Given the description of an element on the screen output the (x, y) to click on. 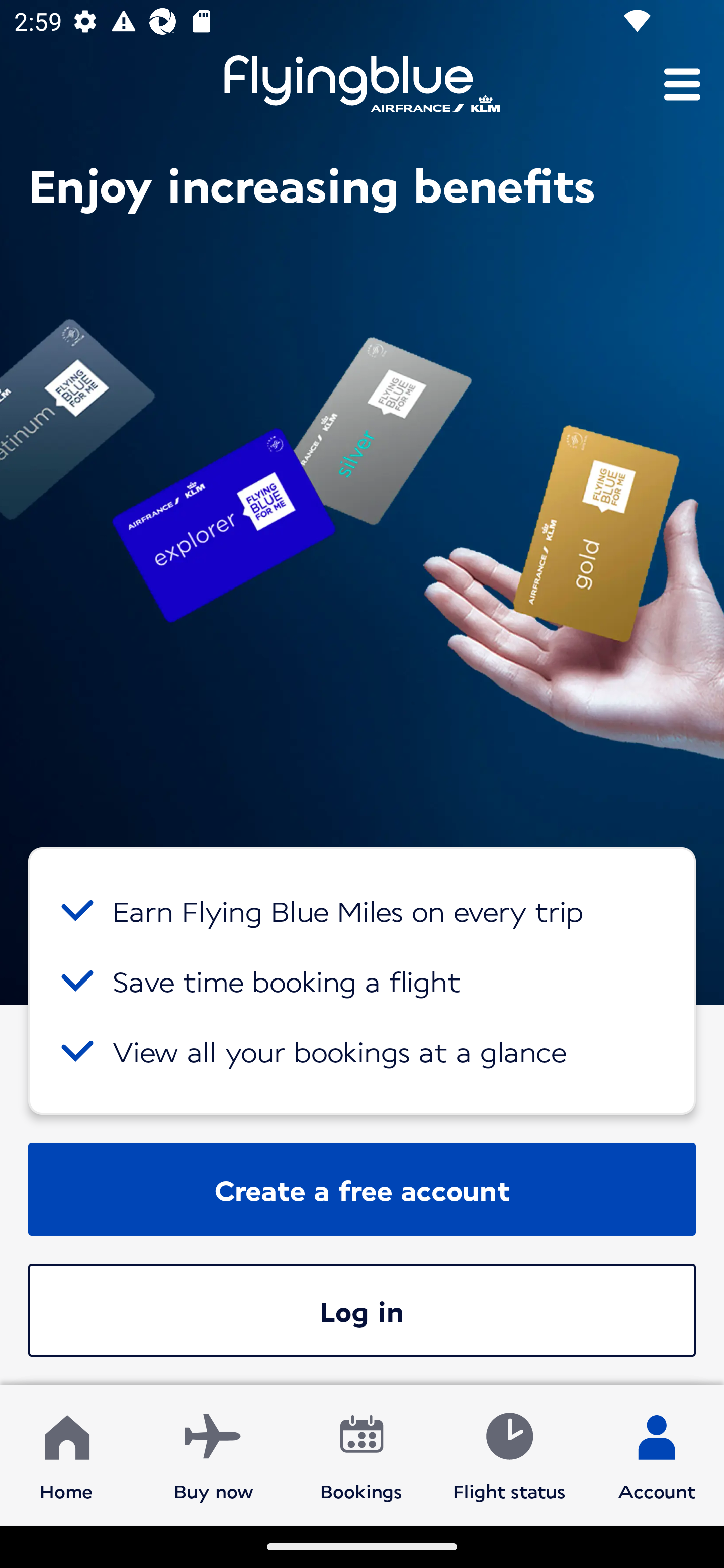
Create a free account (361, 1189)
Log in (361, 1309)
Home (66, 1454)
Buy now (213, 1454)
Bookings (361, 1454)
Flight status (509, 1454)
